Given the description of an element on the screen output the (x, y) to click on. 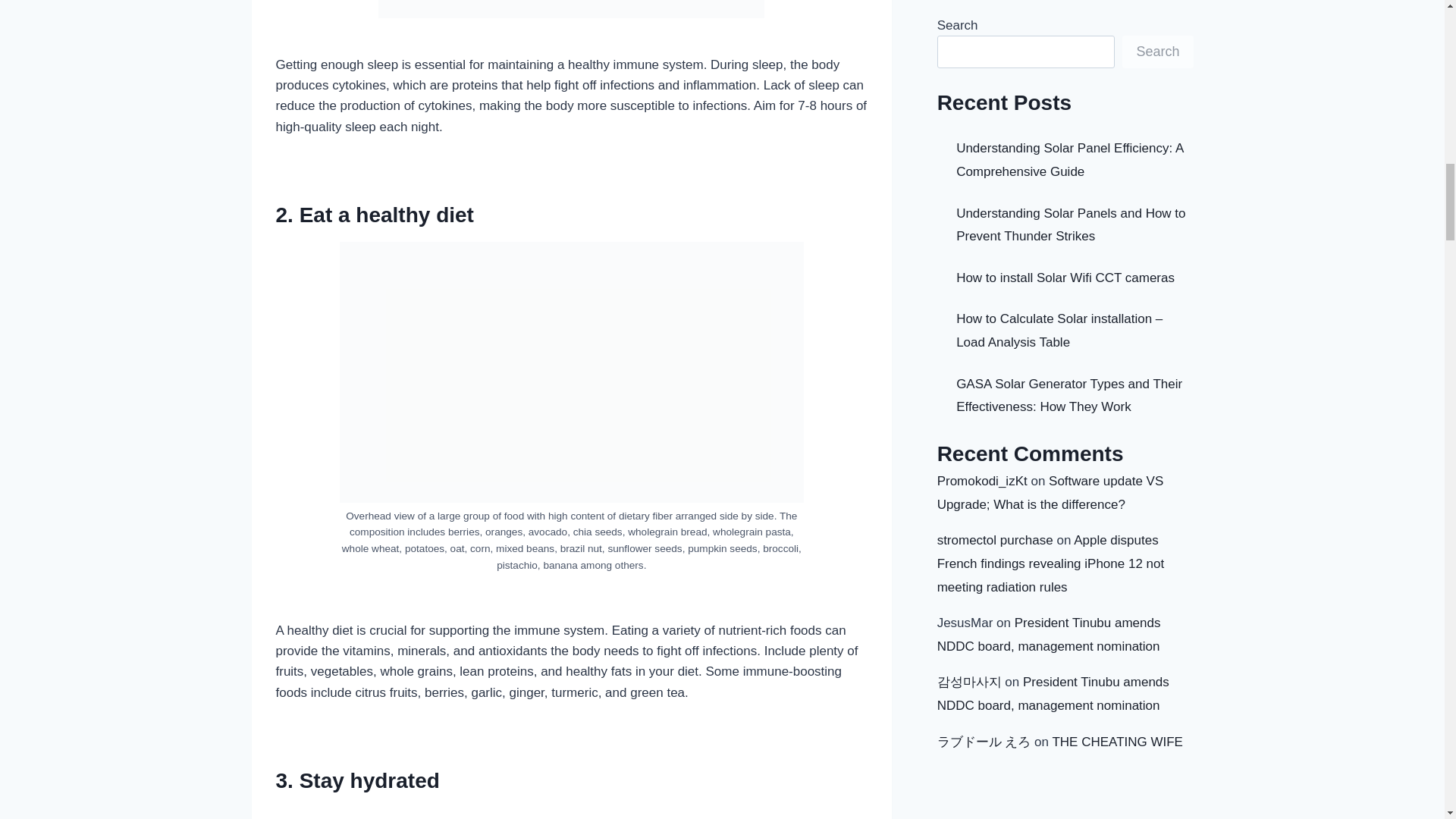
Advertisement (571, 813)
